Given the description of an element on the screen output the (x, y) to click on. 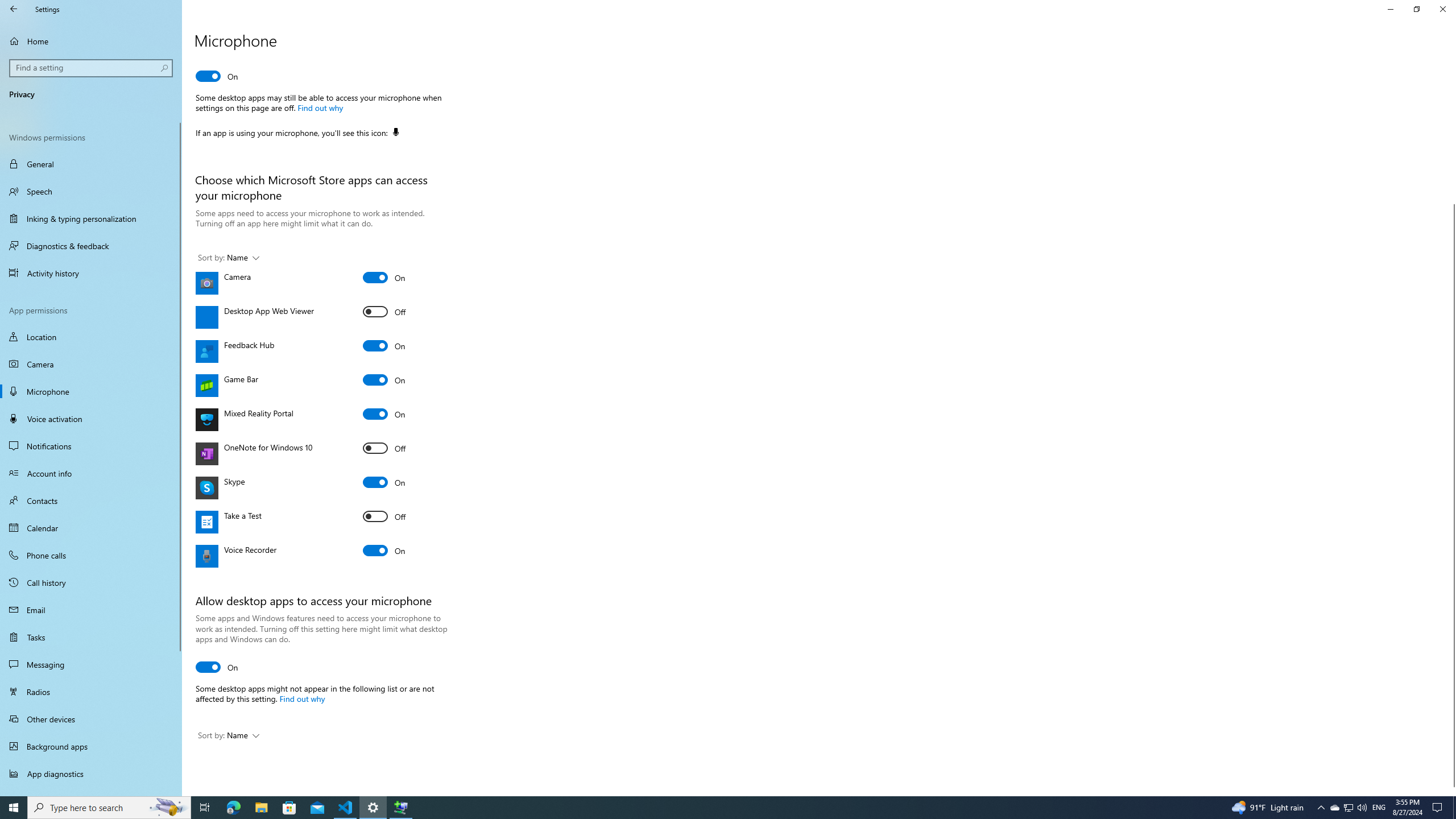
Automatic file downloads (91, 791)
Voice activation (91, 418)
Messaging (91, 664)
Inking & typing personalization (91, 217)
Notifications (91, 445)
Email (91, 609)
Contacts (91, 500)
